Given the description of an element on the screen output the (x, y) to click on. 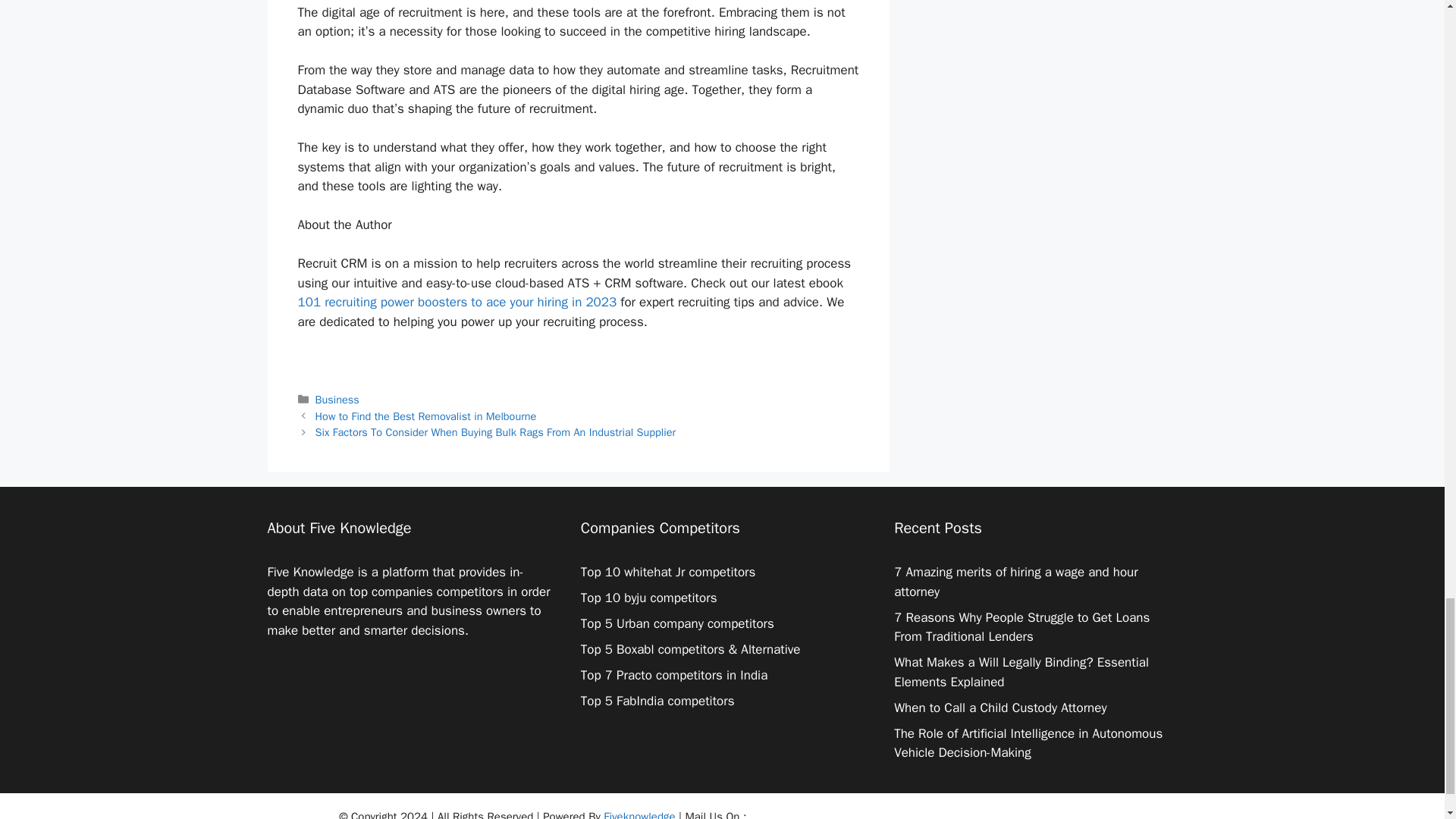
How to Find the Best Removalist in Melbourne (426, 416)
101 recruiting power boosters to ace your hiring in 2023 (456, 302)
Business (337, 399)
